Given the description of an element on the screen output the (x, y) to click on. 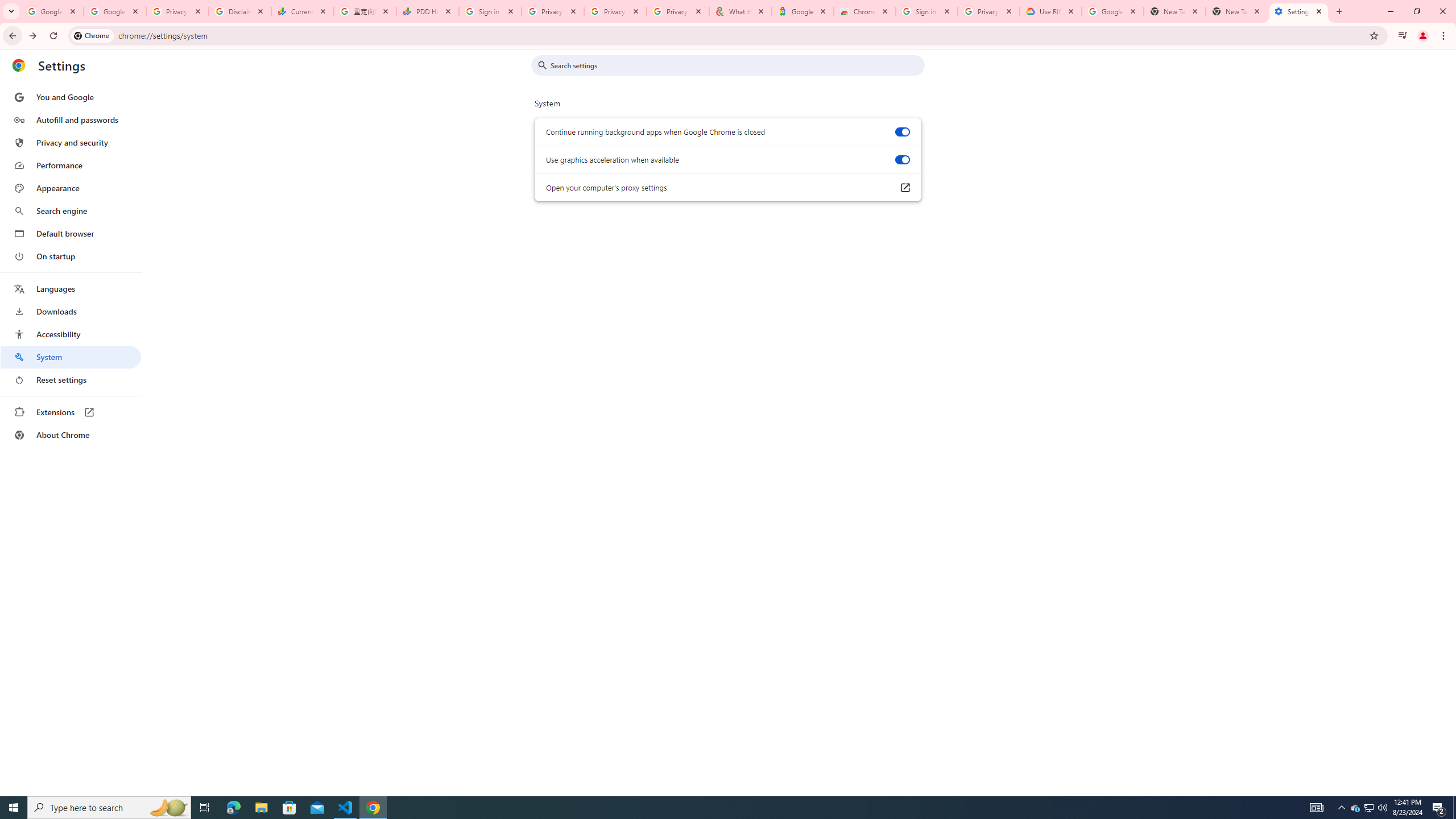
Privacy Checkup (678, 11)
Accessibility (70, 333)
Sign in - Google Accounts (490, 11)
PDD Holdings Inc - ADR (PDD) Price & News - Google Finance (427, 11)
Chrome Web Store - Color themes by Chrome (864, 11)
Currencies - Google Finance (302, 11)
Reset settings (70, 379)
Languages (70, 288)
